Given the description of an element on the screen output the (x, y) to click on. 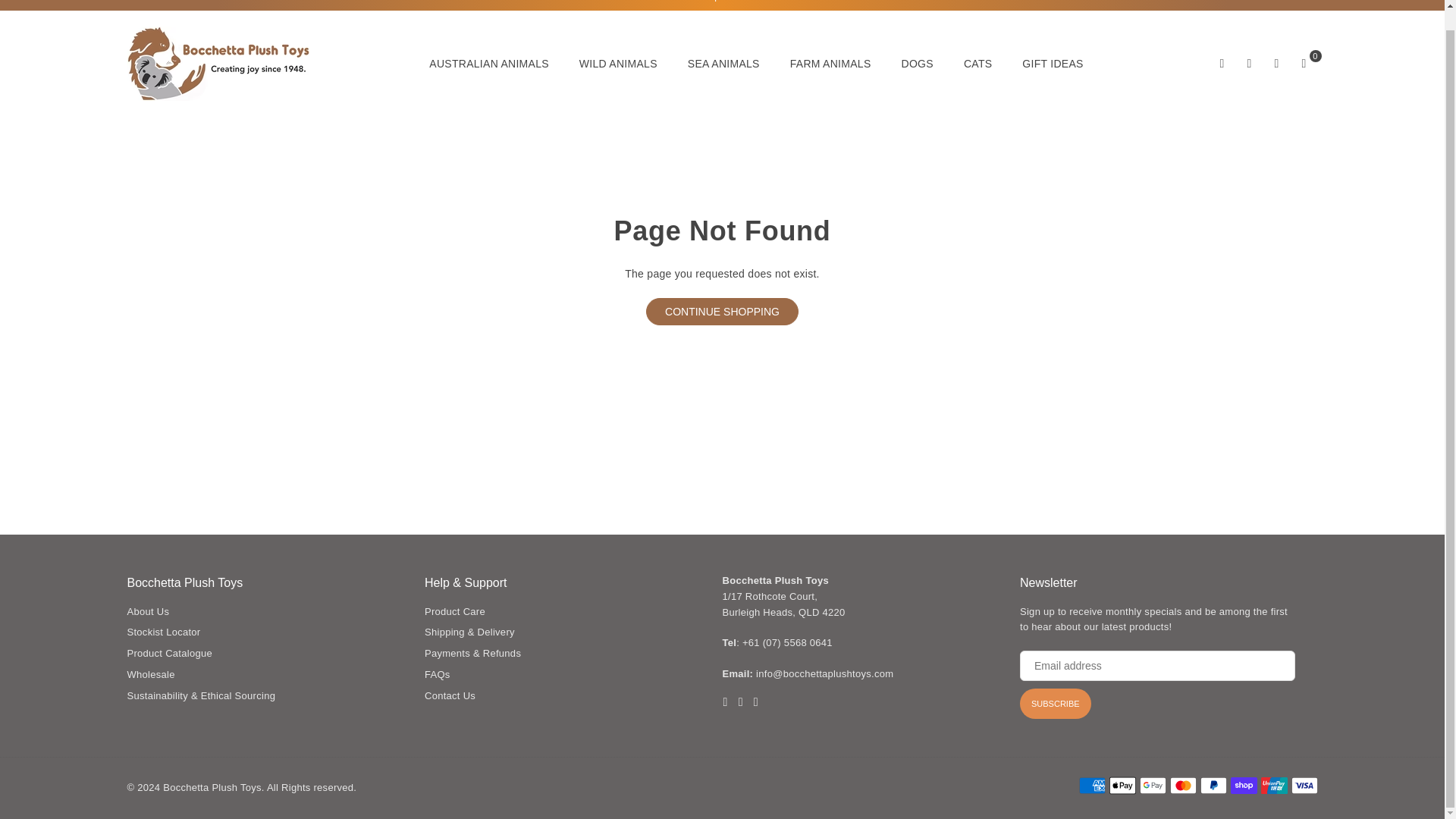
Mastercard (1182, 785)
American Express (1091, 785)
Wishlist (1276, 62)
Search (1222, 62)
Bocchetta Plush Toys on Facebook (724, 701)
Bocchetta Plush Toys on Instagram (755, 701)
SEA ANIMALS (724, 63)
Settings (1249, 62)
Shop Pay (1243, 785)
Visa (1303, 785)
Google Pay (1152, 785)
Bocchetta Plush Toys on Twitter (740, 701)
Cart (1303, 62)
AUSTRALIAN ANIMALS (488, 63)
Apple Pay (1121, 785)
